Given the description of an element on the screen output the (x, y) to click on. 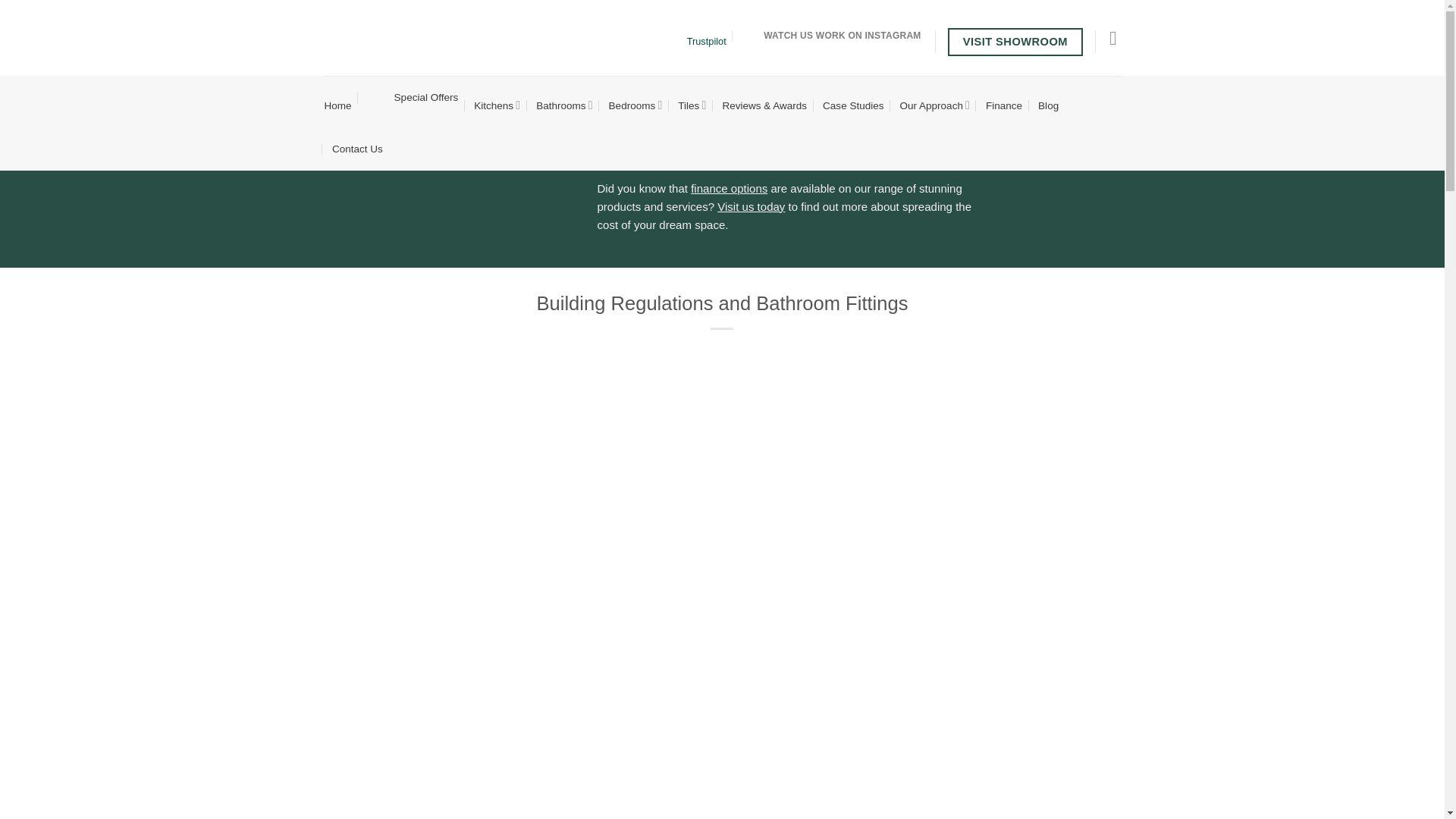
Kitchens (496, 104)
Trustpilot (706, 41)
VISIT SHOWROOM (1015, 41)
Bedrooms (635, 104)
Special Offers (413, 97)
Bathrooms (563, 104)
Homematas - Kitchen, bathroom, bedroom and tile specialists. (459, 37)
WATCH US WORK ON INSTAGRAM (830, 35)
